Given the description of an element on the screen output the (x, y) to click on. 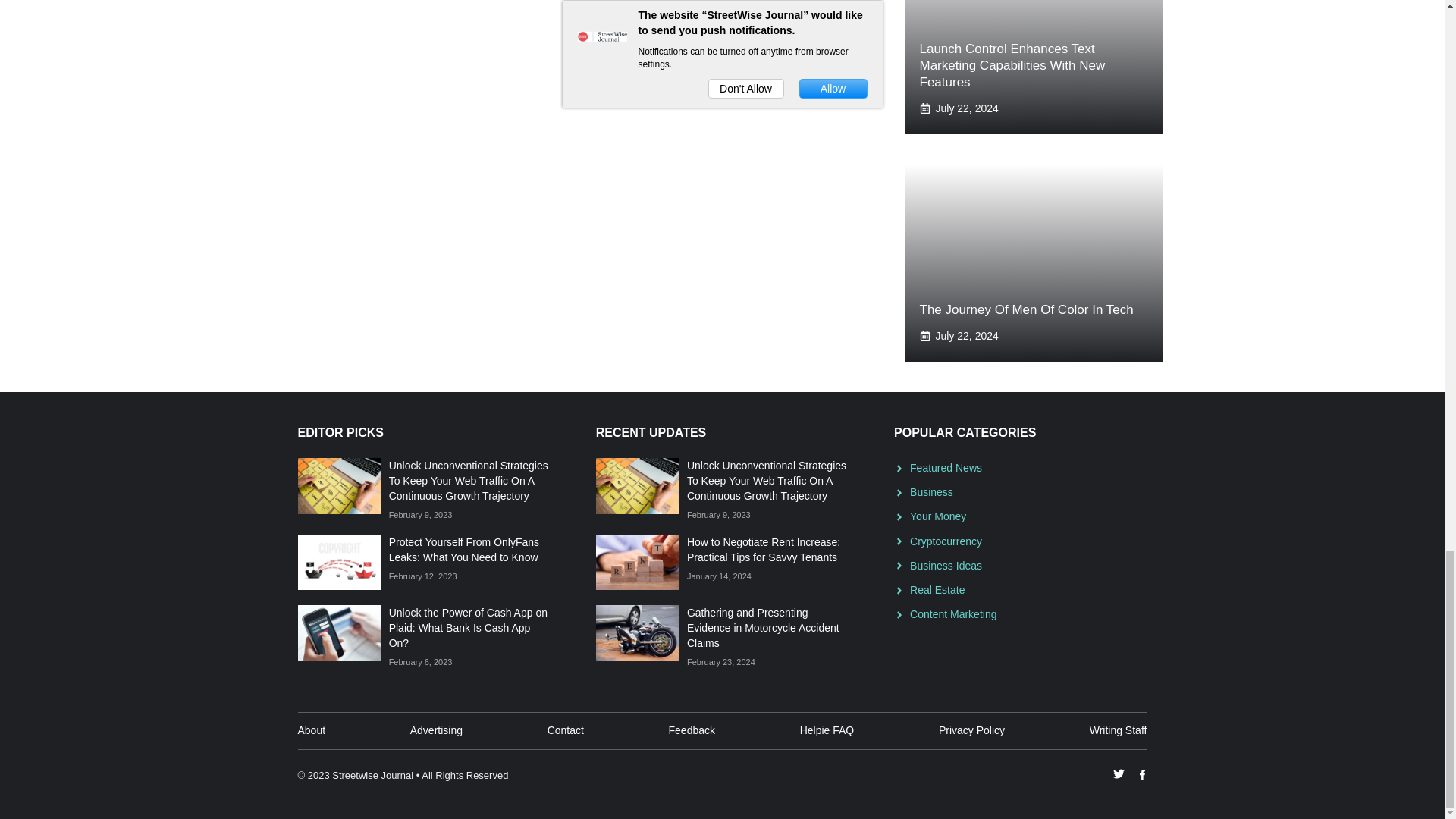
The Journey Of Men Of Color In Tech (1025, 309)
Protect Yourself From OnlyFans Leaks: What You Need to Know (463, 549)
